Given the description of an element on the screen output the (x, y) to click on. 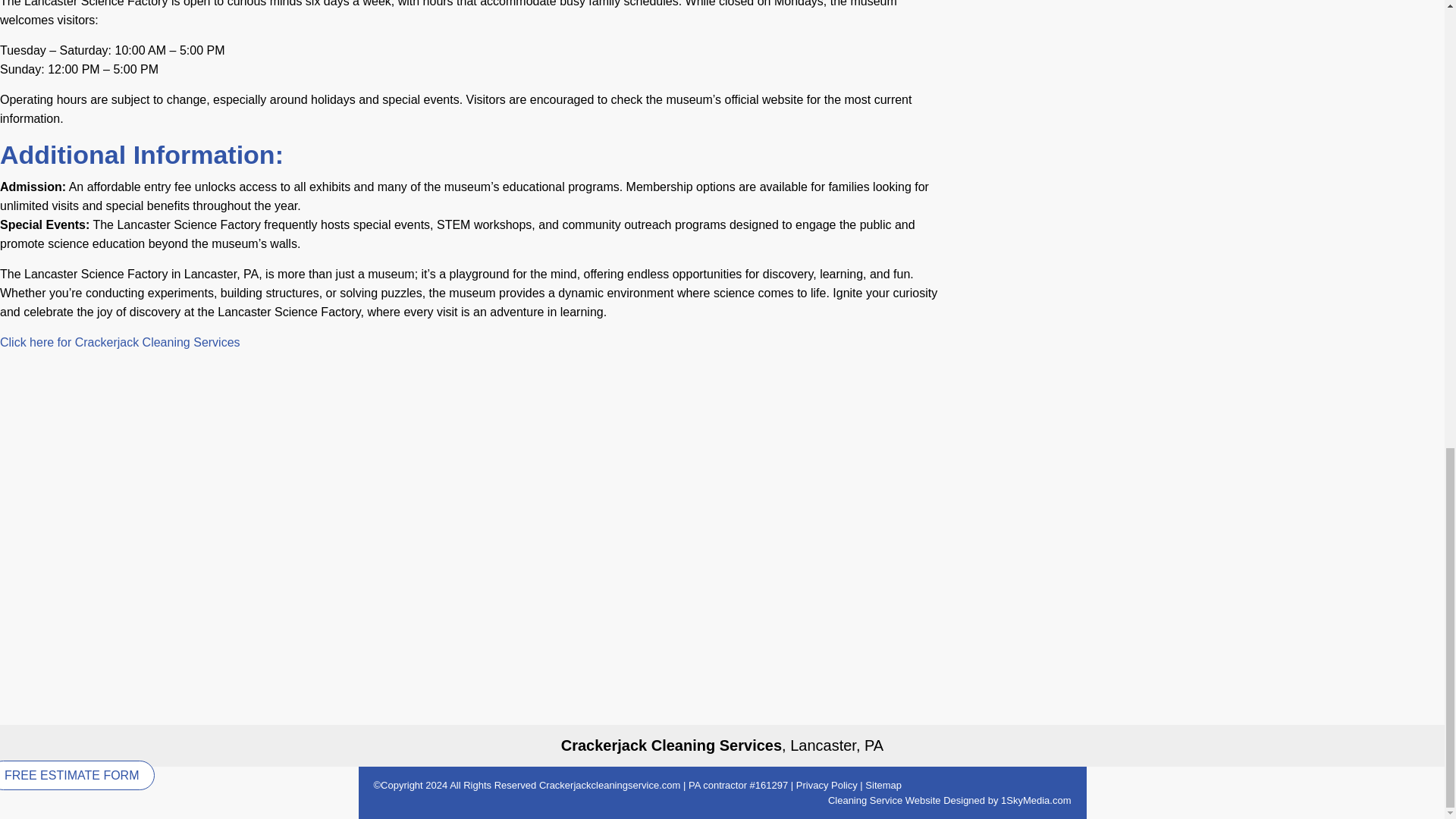
Crackerjackcleaningservice.com (608, 785)
Cleaning Service Website (884, 799)
Click here for Crackerjack Cleaning Services (120, 341)
Sitemap (882, 785)
Privacy Policy (826, 785)
1SkyMedia.com (1035, 799)
